Given the description of an element on the screen output the (x, y) to click on. 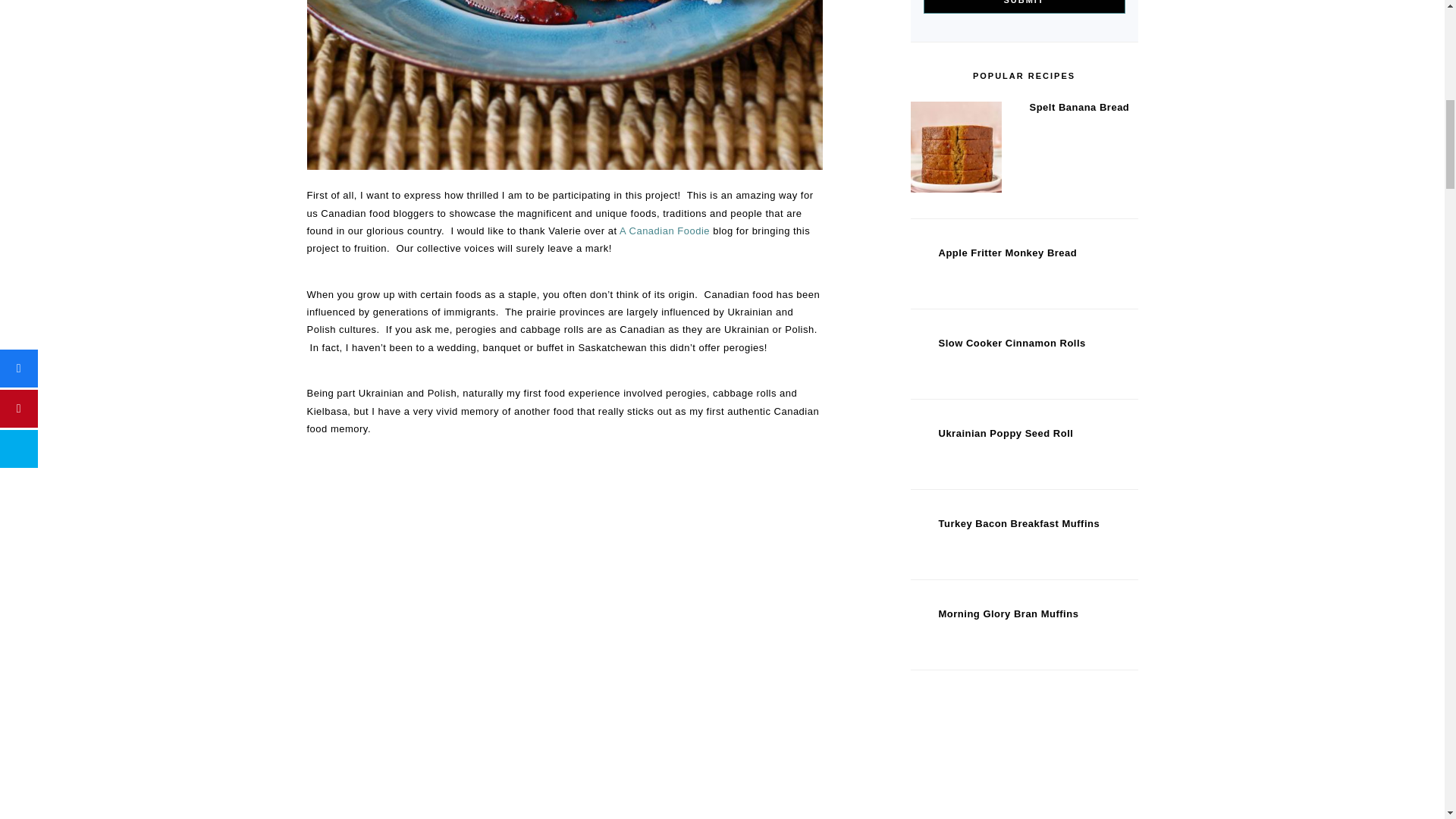
Submit (1024, 6)
Spelt Banana Bread (955, 149)
A Canadian Foodie (665, 230)
